Given the description of an element on the screen output the (x, y) to click on. 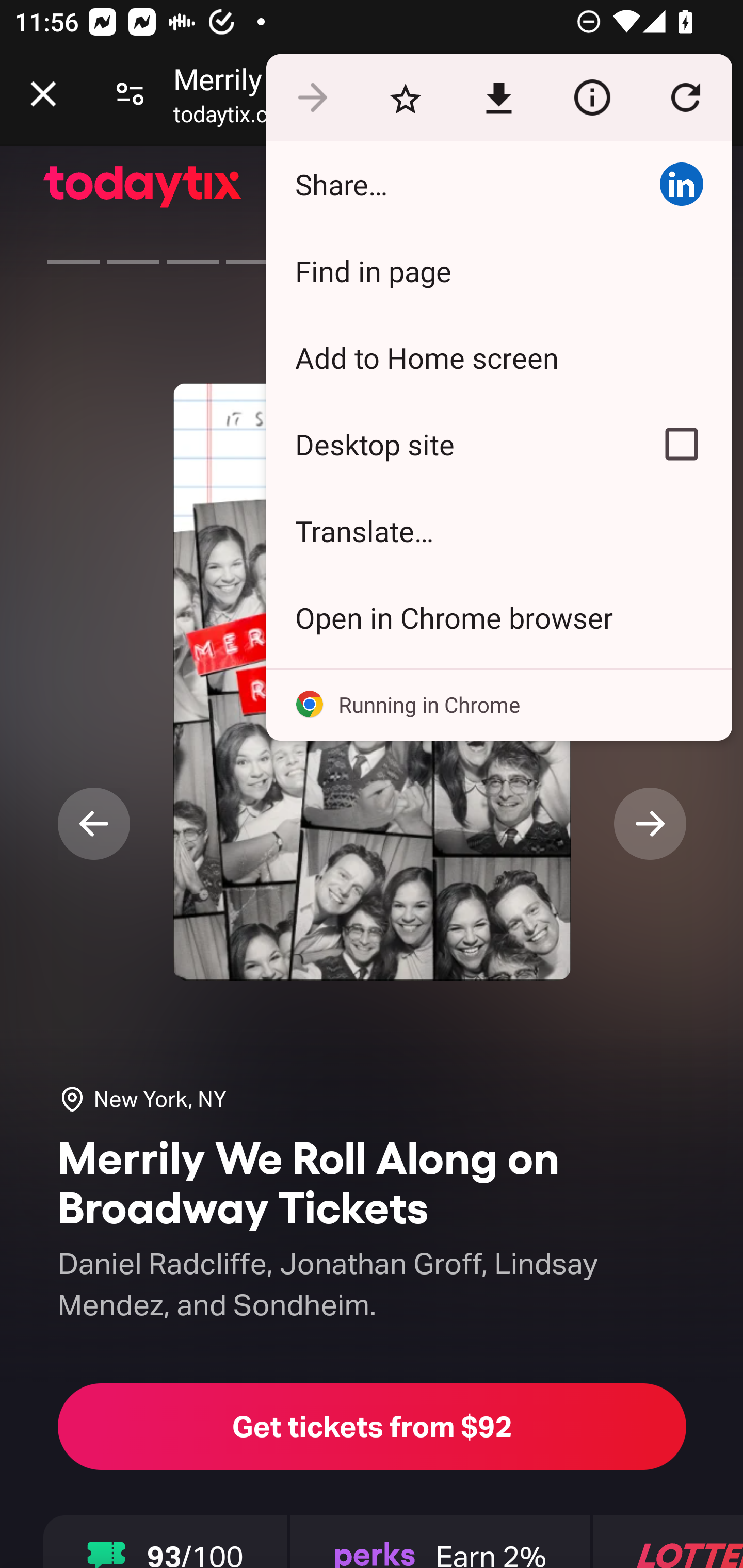
Go forward (311, 97)
Bookmark (404, 97)
Download this page (498, 97)
View site information (591, 97)
Stop refreshing (684, 97)
Share… (447, 184)
Share via Share in a post (680, 184)
Find in page (498, 270)
Add to Home screen (498, 357)
Desktop site Turn on Request desktop site (447, 444)
Translate… (498, 530)
Open in Chrome browser (498, 616)
